Given the description of an element on the screen output the (x, y) to click on. 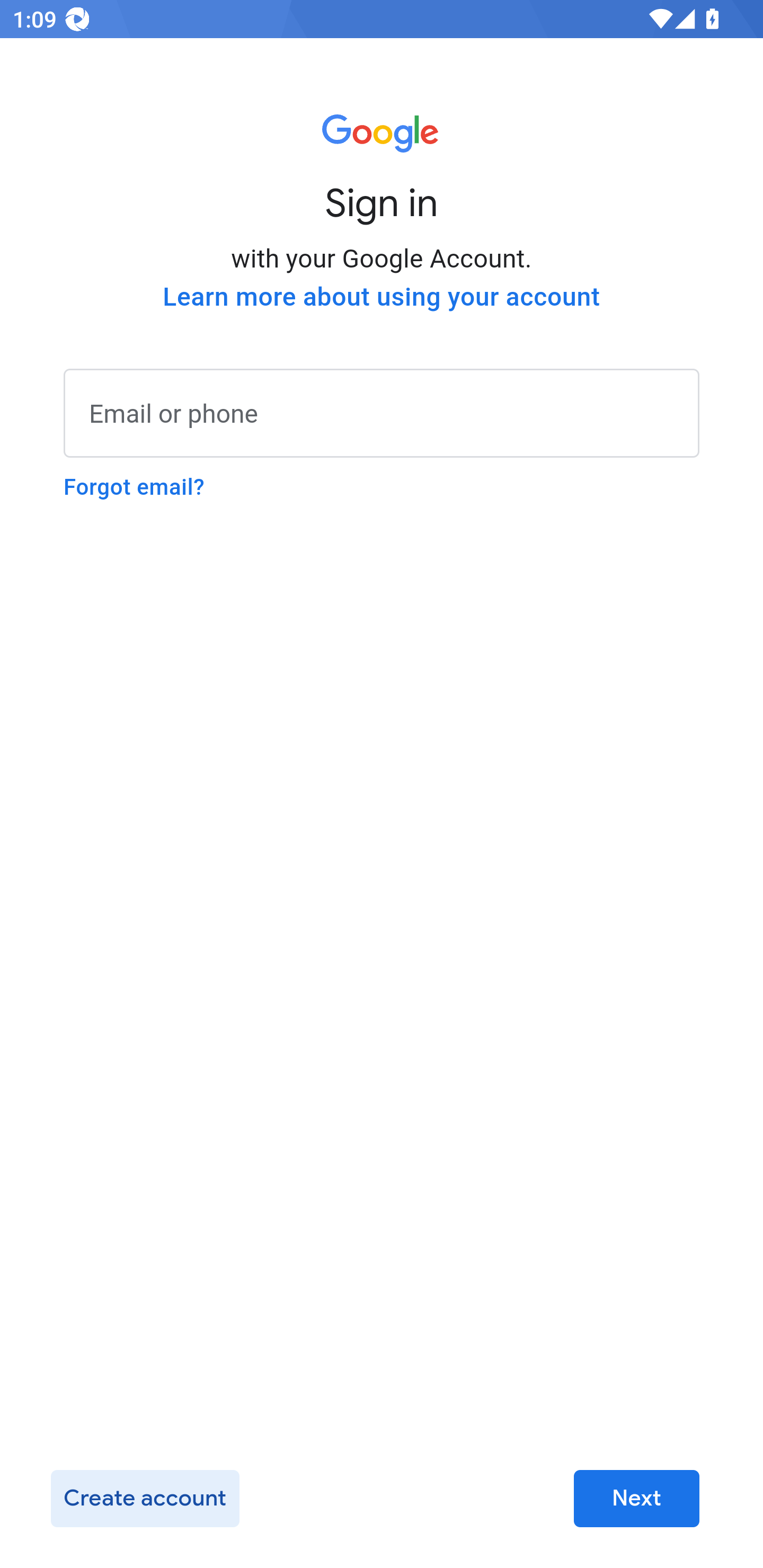
Learn more about using your account (381, 296)
Forgot email? (133, 486)
Create account (145, 1498)
Next (635, 1498)
